Given the description of an element on the screen output the (x, y) to click on. 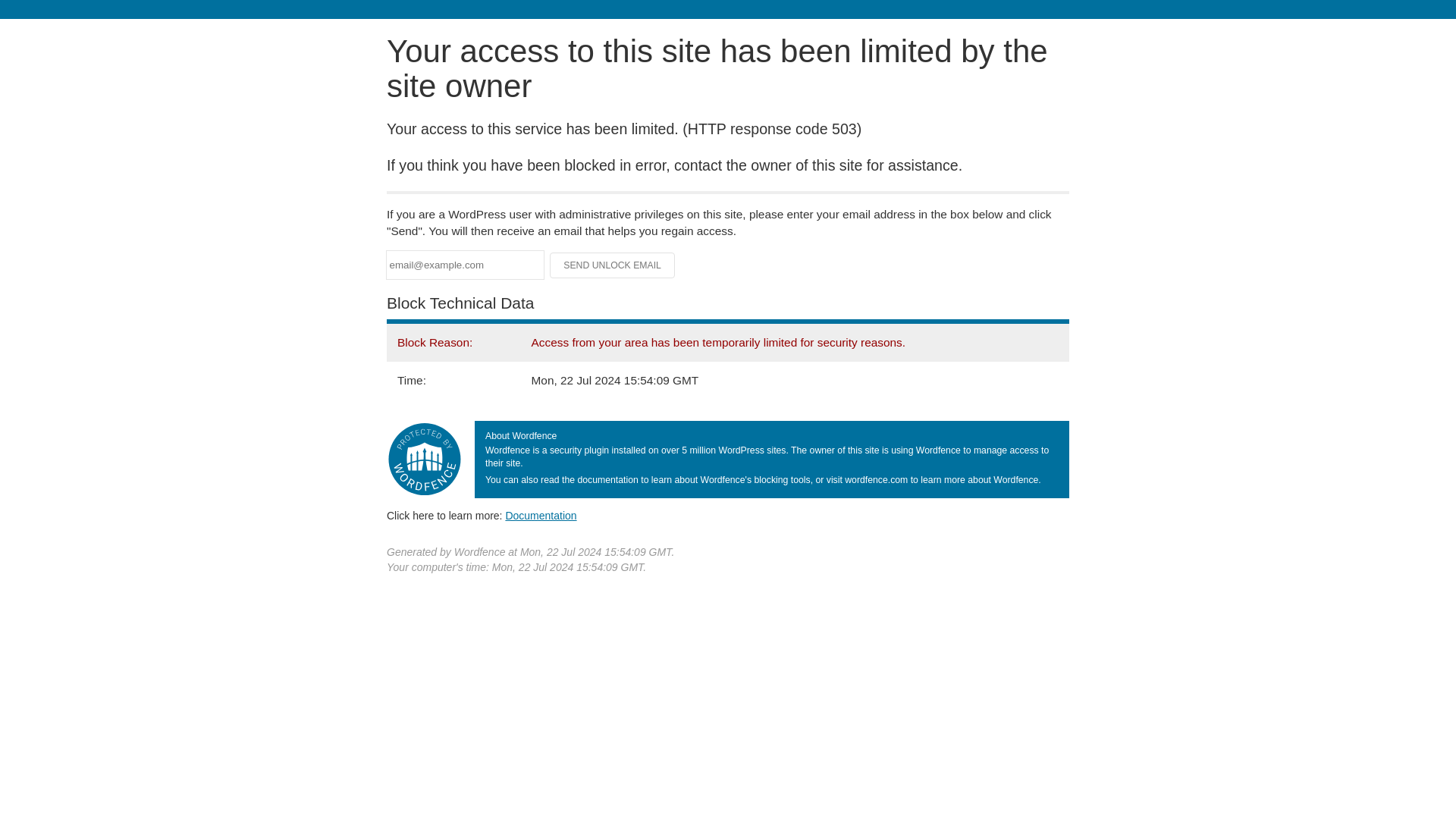
Send Unlock Email (612, 265)
Send Unlock Email (612, 265)
Documentation (540, 515)
